Given the description of an element on the screen output the (x, y) to click on. 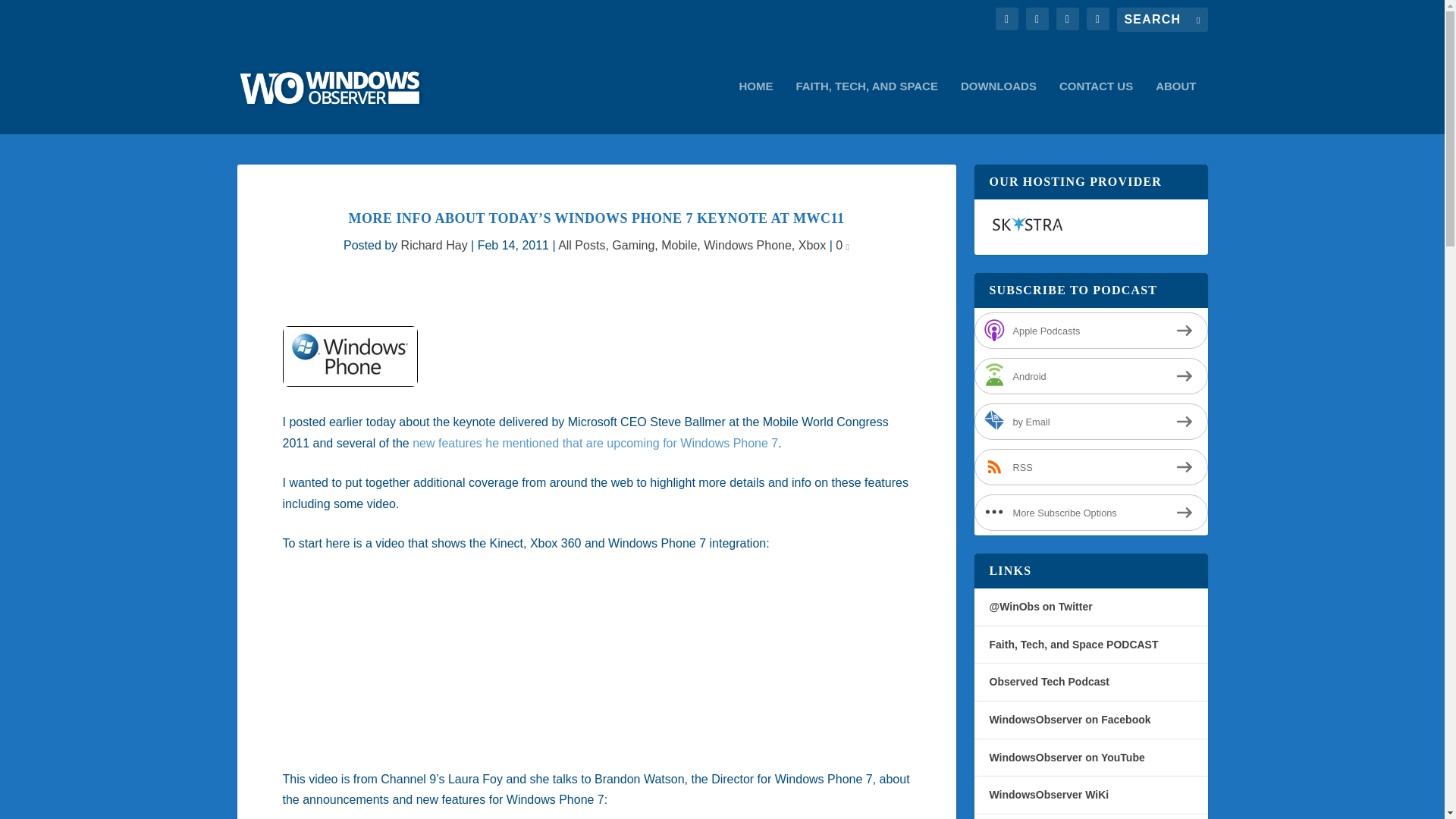
Richard Hay (434, 245)
0 (841, 245)
Posts by Richard Hay (434, 245)
All Posts (581, 245)
FAITH, TECH, AND SPACE (865, 107)
DOWNLOADS (998, 107)
Subscribe on Apple Podcasts (1090, 330)
Windows Phone (747, 245)
Mobile (679, 245)
Search for: (1161, 19)
